Given the description of an element on the screen output the (x, y) to click on. 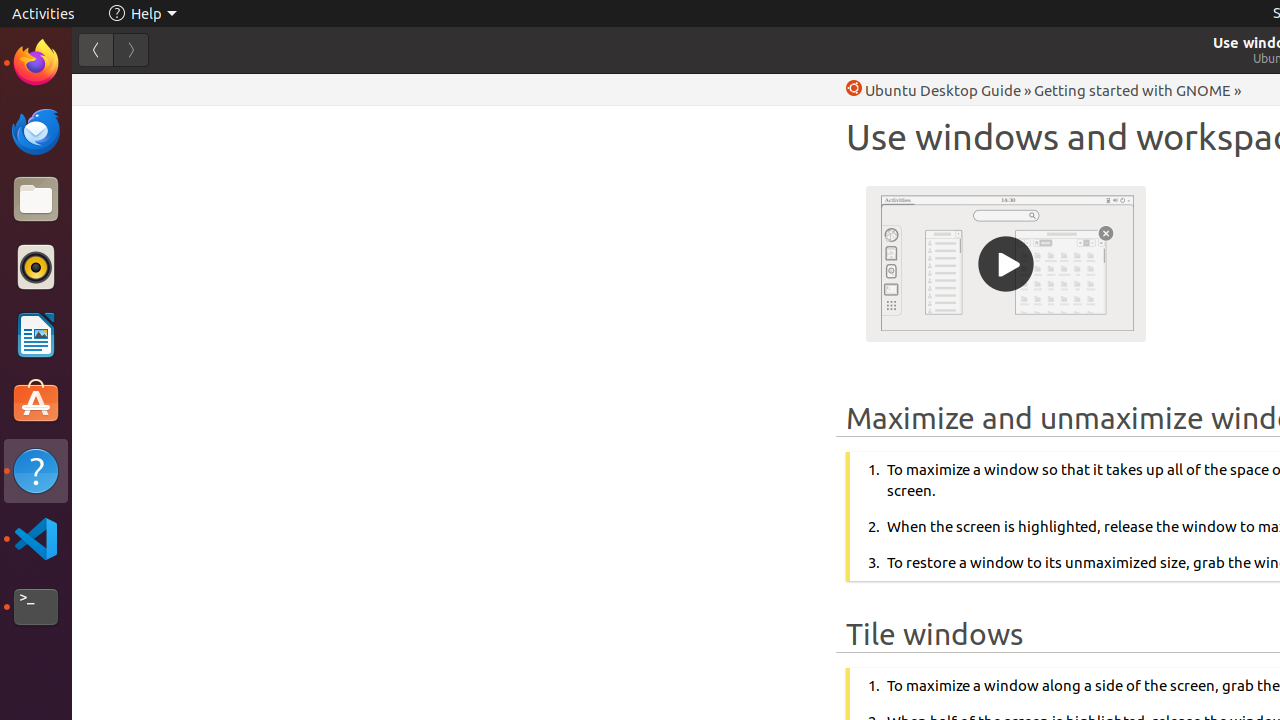
li.txt Element type: label (259, 89)
